Given the description of an element on the screen output the (x, y) to click on. 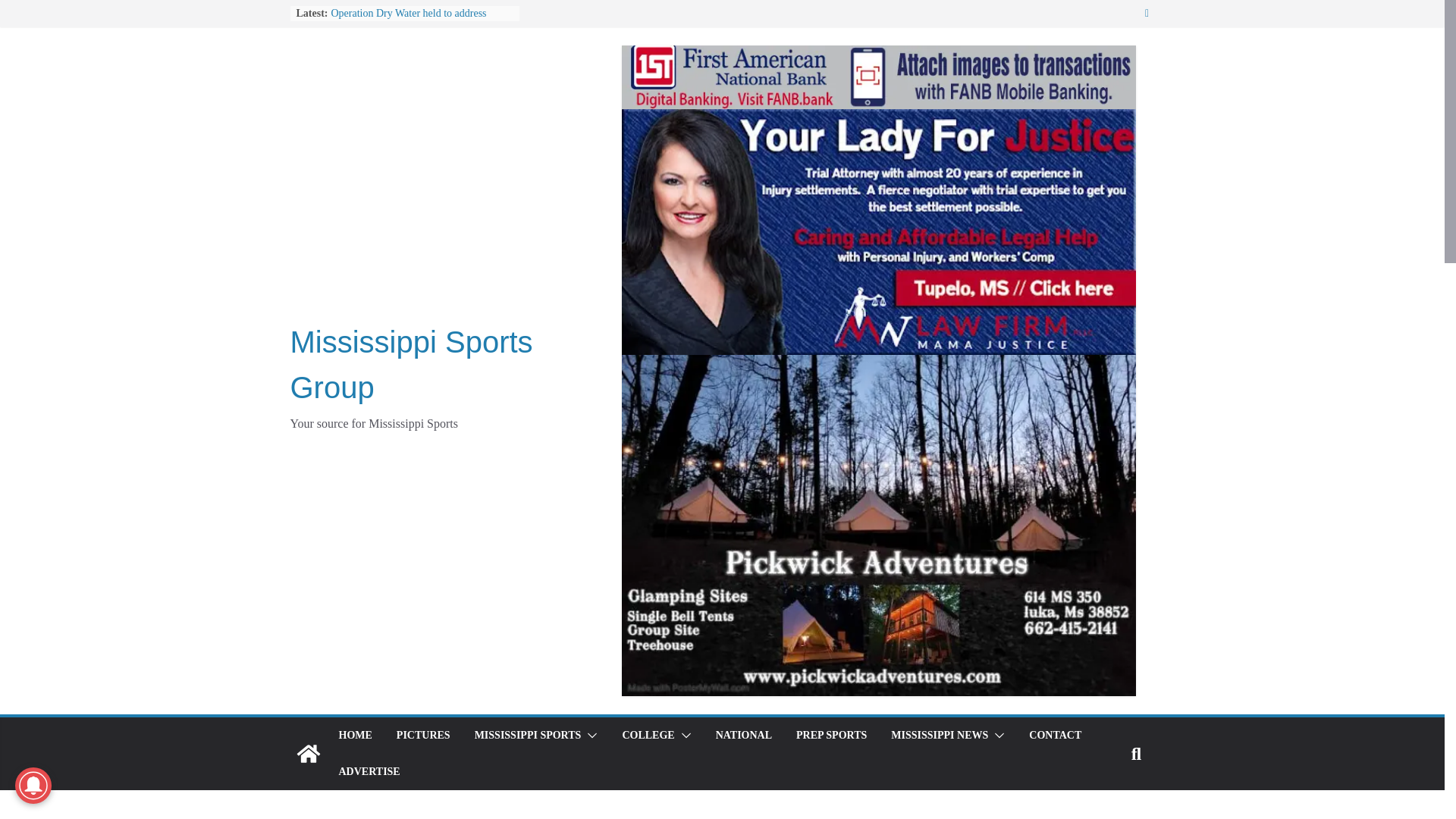
MISSISSIPPI SPORTS (527, 735)
Mississippi Sports Group (410, 364)
COLLEGE (647, 735)
Mississippi Sports Group (307, 753)
HOME (354, 735)
Mississippi Sports Group (410, 364)
MISSISSIPPI NEWS (939, 735)
PREP SPORTS (831, 735)
PICTURES (422, 735)
NATIONAL (743, 735)
